Given the description of an element on the screen output the (x, y) to click on. 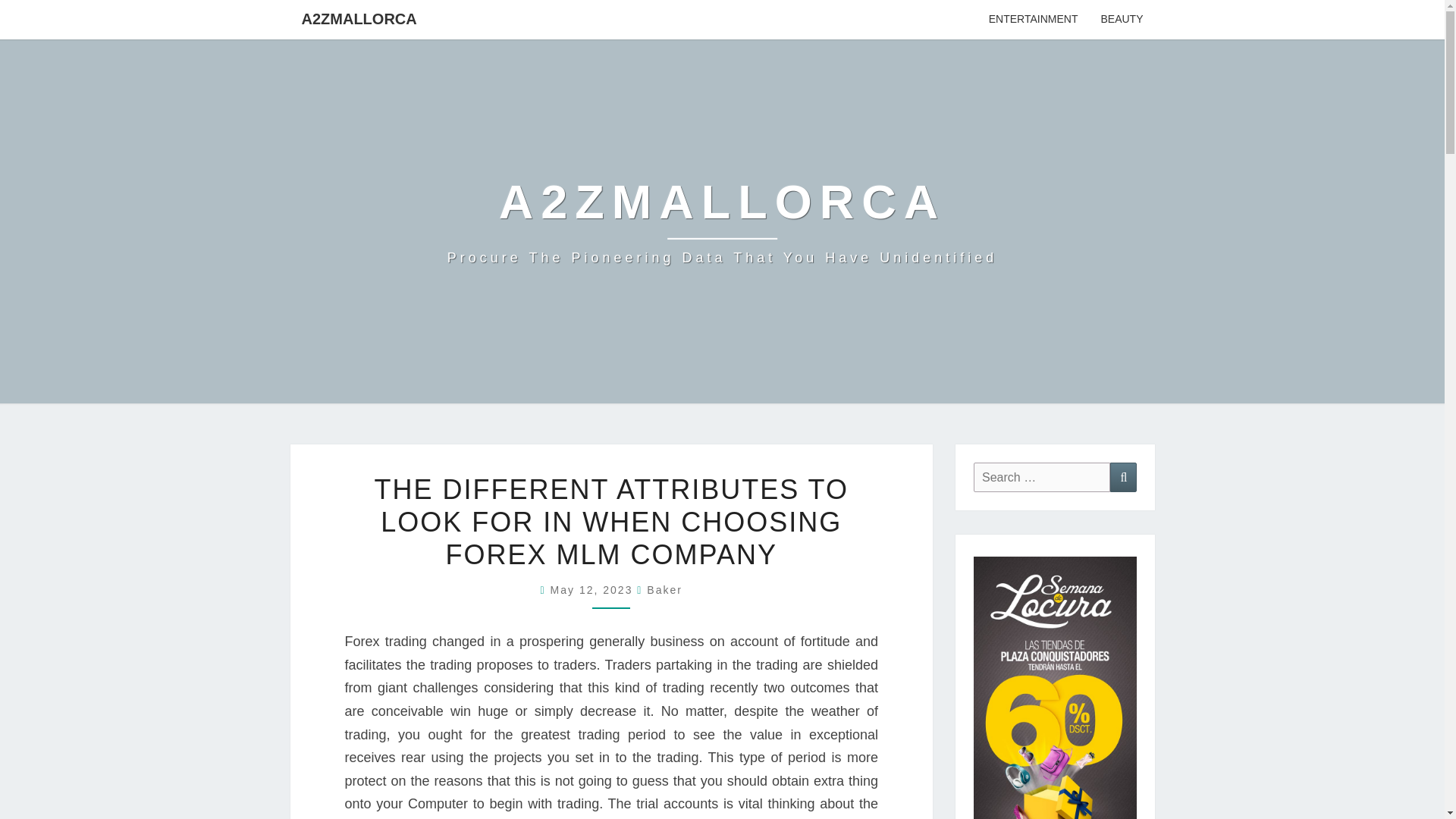
A2ZMALLORCA (358, 18)
A2zmallorca (721, 221)
4:52 am (593, 589)
May 12, 2023 (593, 589)
Search (1123, 477)
View all posts by Baker (664, 589)
ENTERTAINMENT (1032, 19)
BEAUTY (1121, 19)
Search for: (1041, 477)
Baker (664, 589)
